Given the description of an element on the screen output the (x, y) to click on. 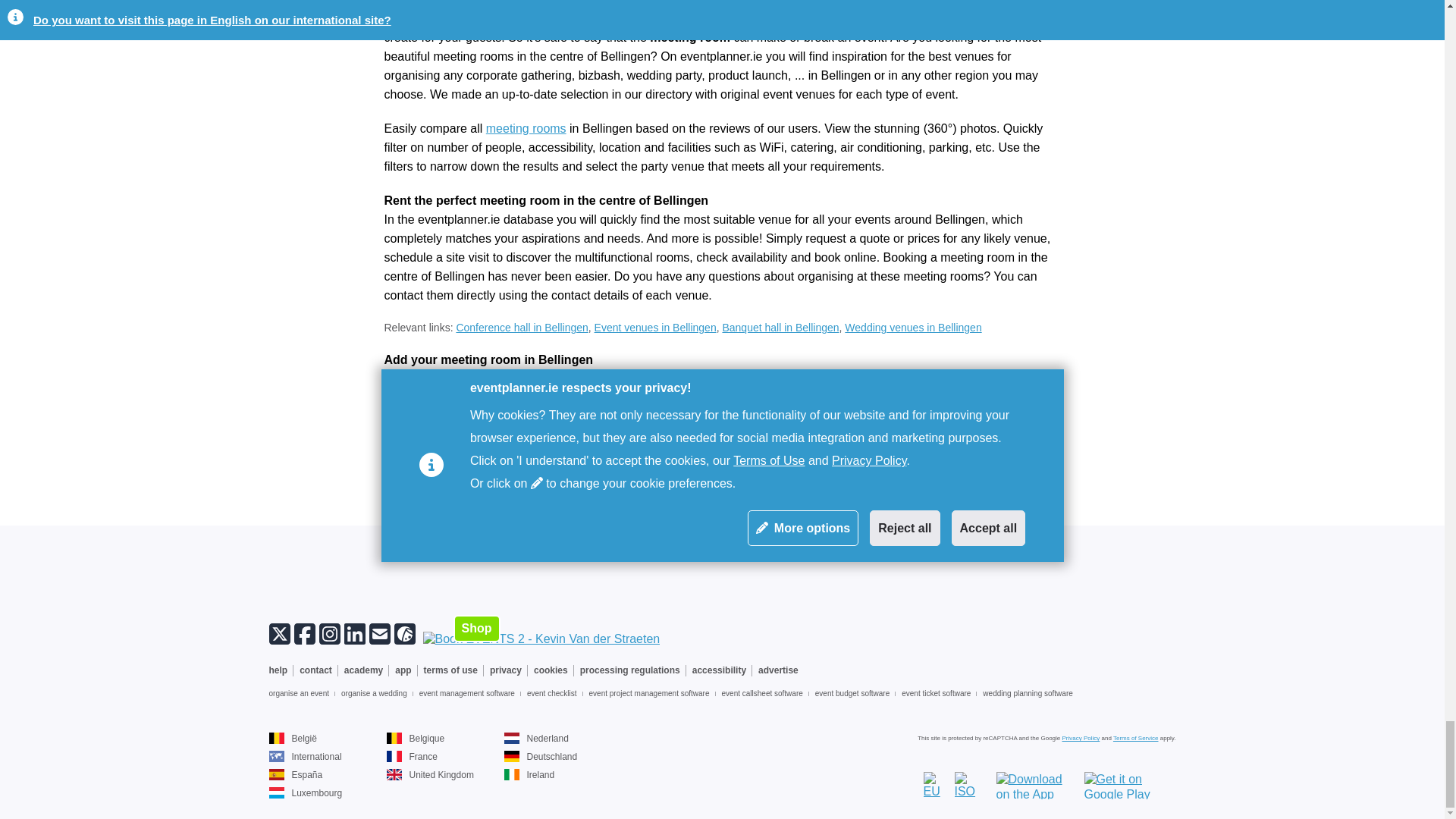
eventplanner Ireland (528, 775)
eventplanner Nederland (535, 738)
eventplanner Luxembourg (304, 793)
eventplanner France (412, 756)
eventplanner Belgique (416, 738)
eventplanner.net (303, 756)
eventplanner Deutschland (539, 756)
eventplanner United Kingdom (430, 775)
EU GDPR Compliant (939, 785)
meeting rooms (526, 128)
